Given the description of an element on the screen output the (x, y) to click on. 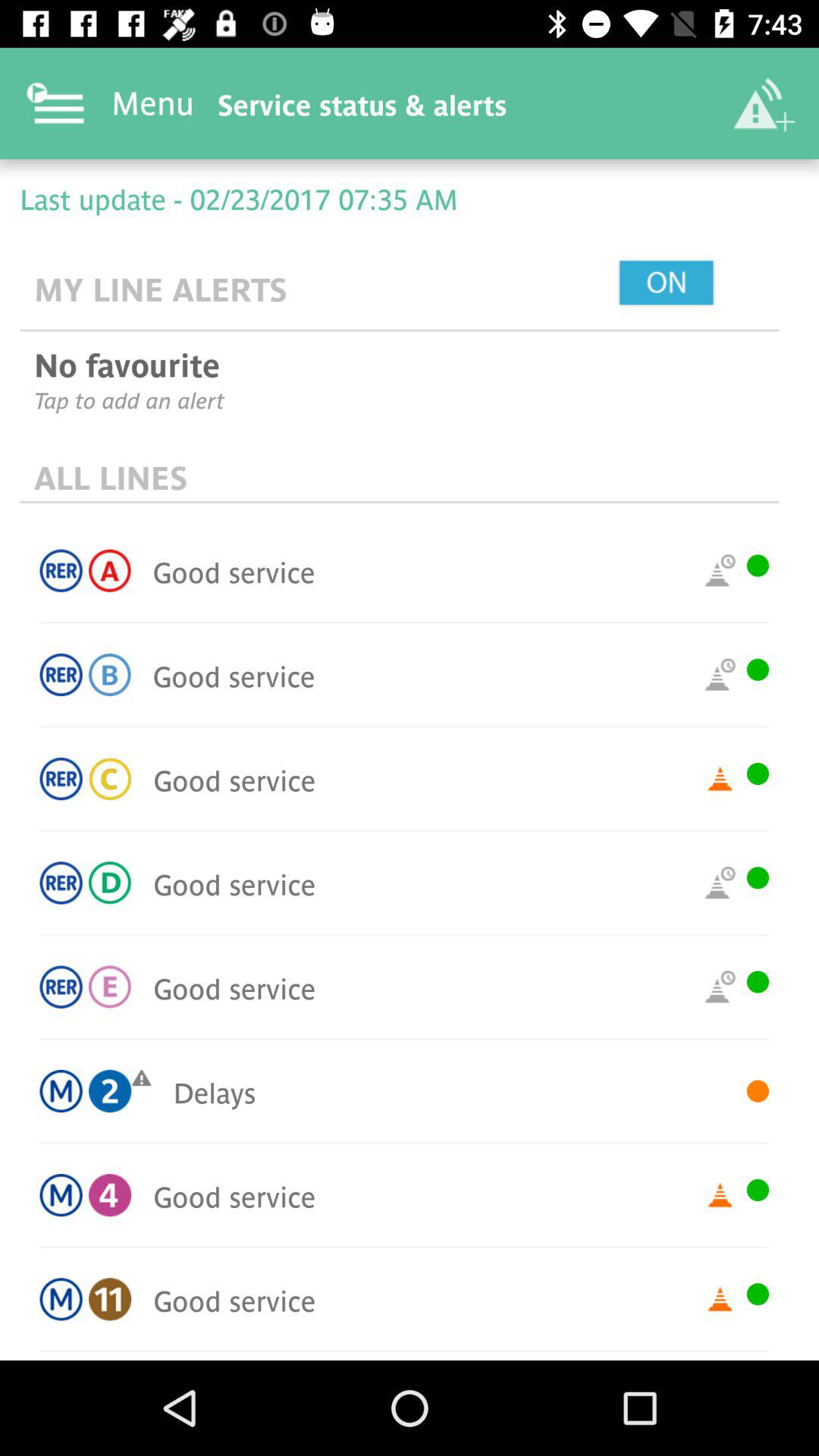
press the icon next to service status & alerts (763, 103)
